Given the description of an element on the screen output the (x, y) to click on. 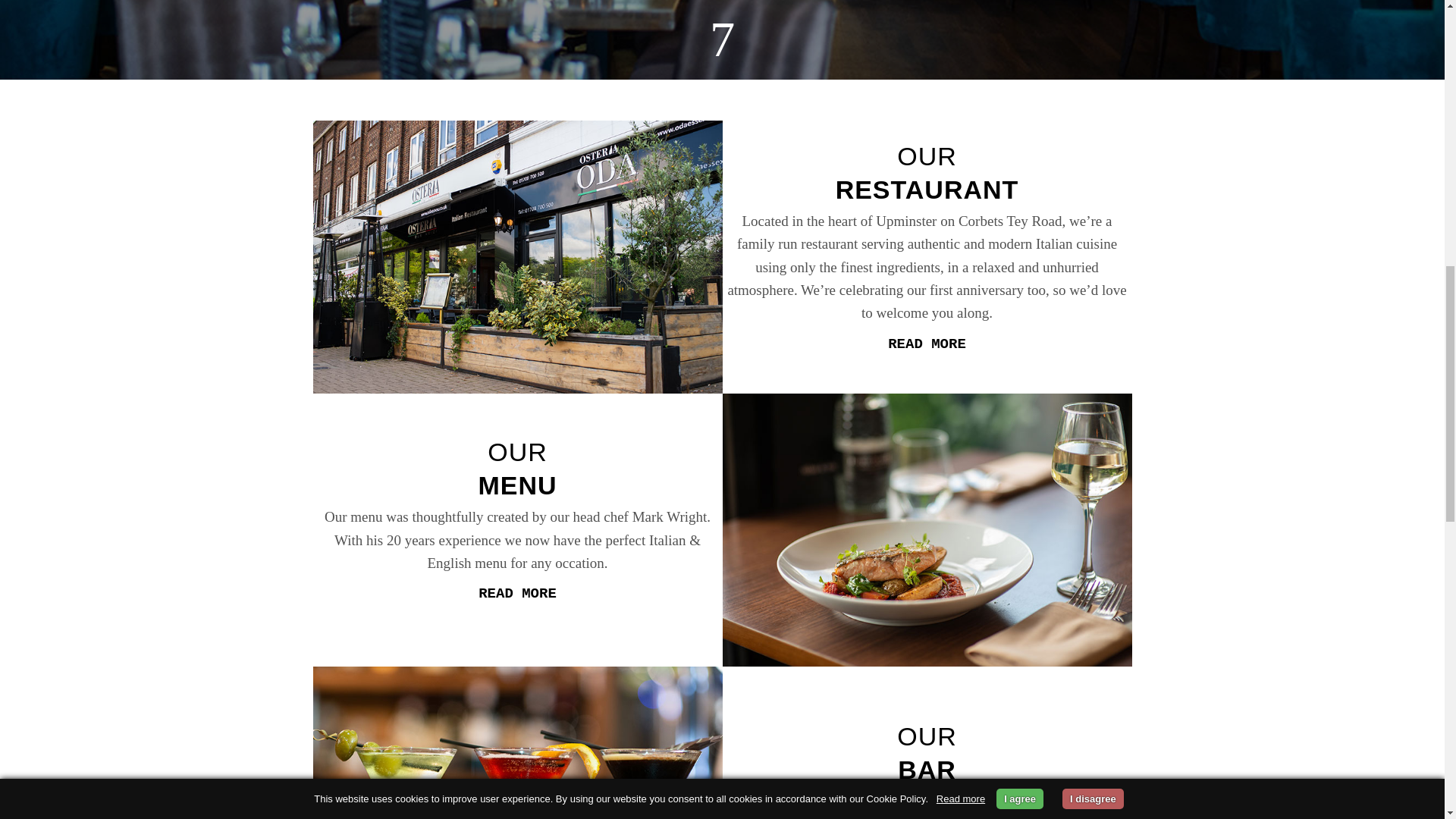
READ MORE (517, 593)
READ MORE (927, 343)
